Given the description of an element on the screen output the (x, y) to click on. 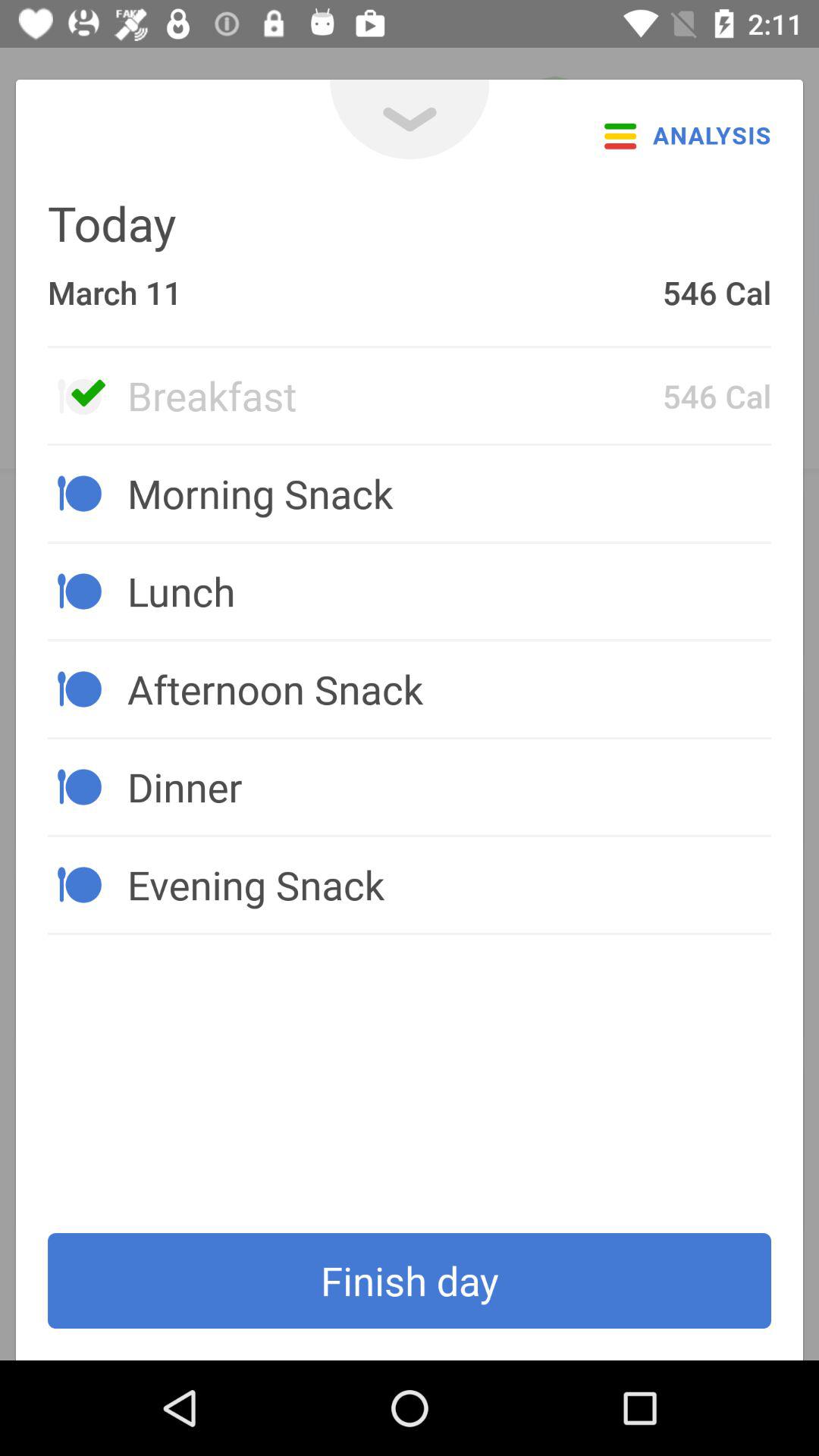
tap the finish day icon (409, 1280)
